Given the description of an element on the screen output the (x, y) to click on. 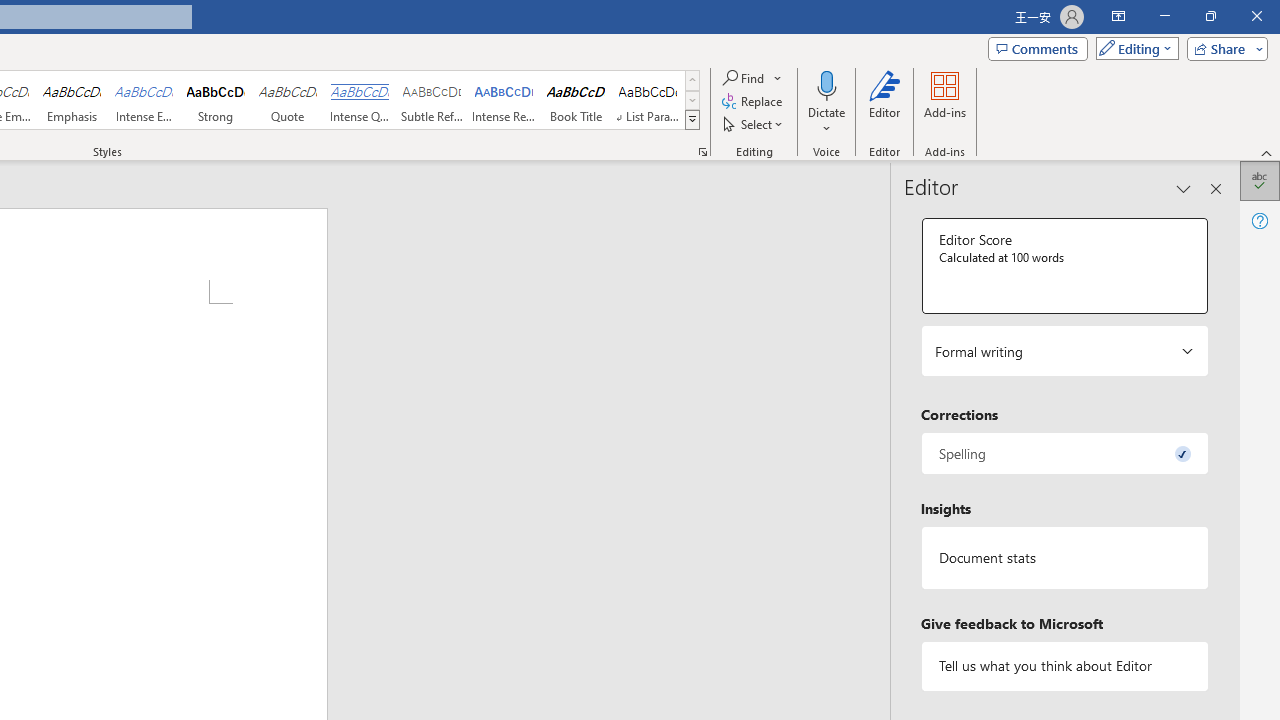
Editor (885, 102)
Strong (216, 100)
Select (754, 124)
